Given the description of an element on the screen output the (x, y) to click on. 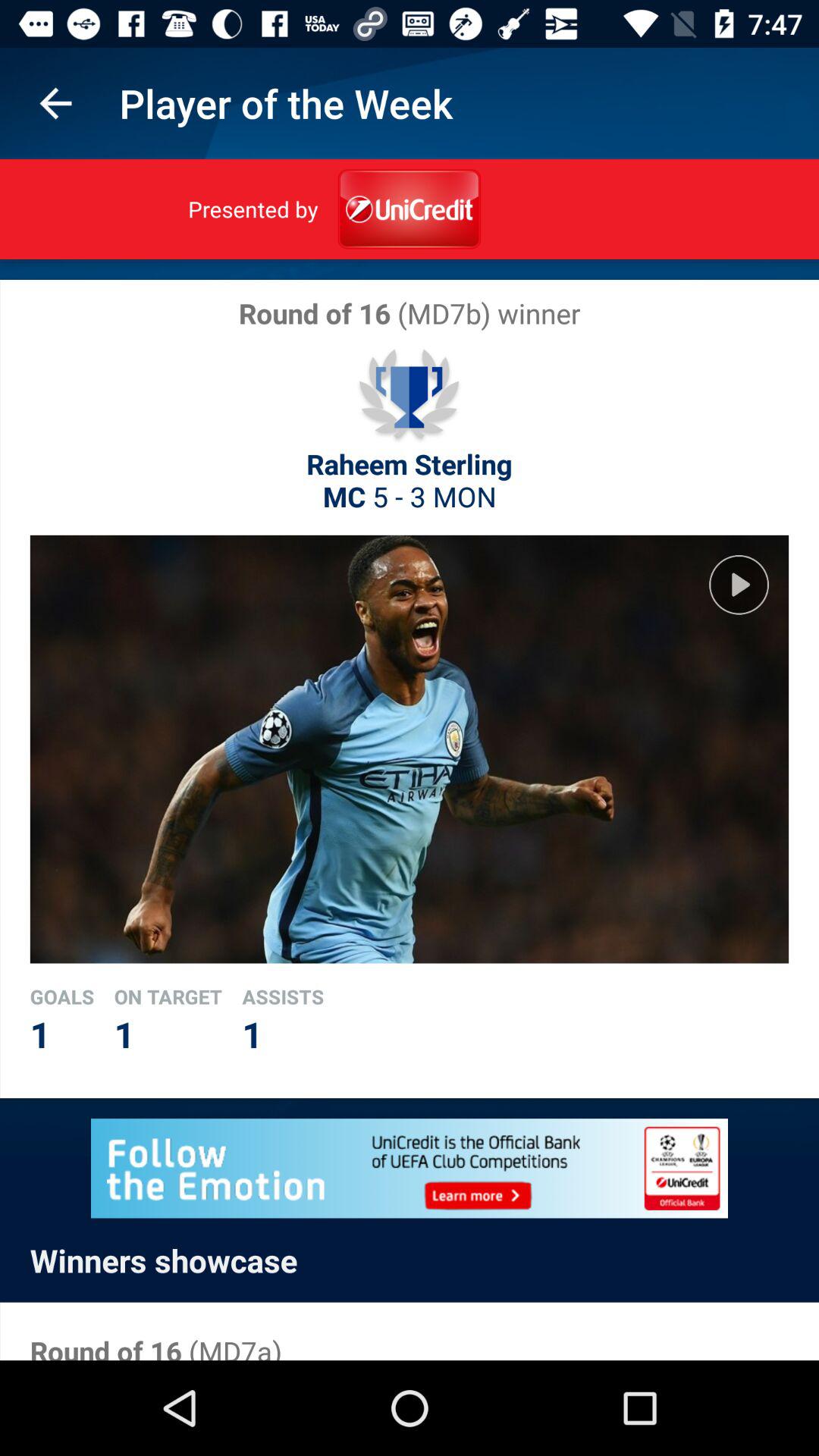
advertisement promotion (409, 1168)
